Given the description of an element on the screen output the (x, y) to click on. 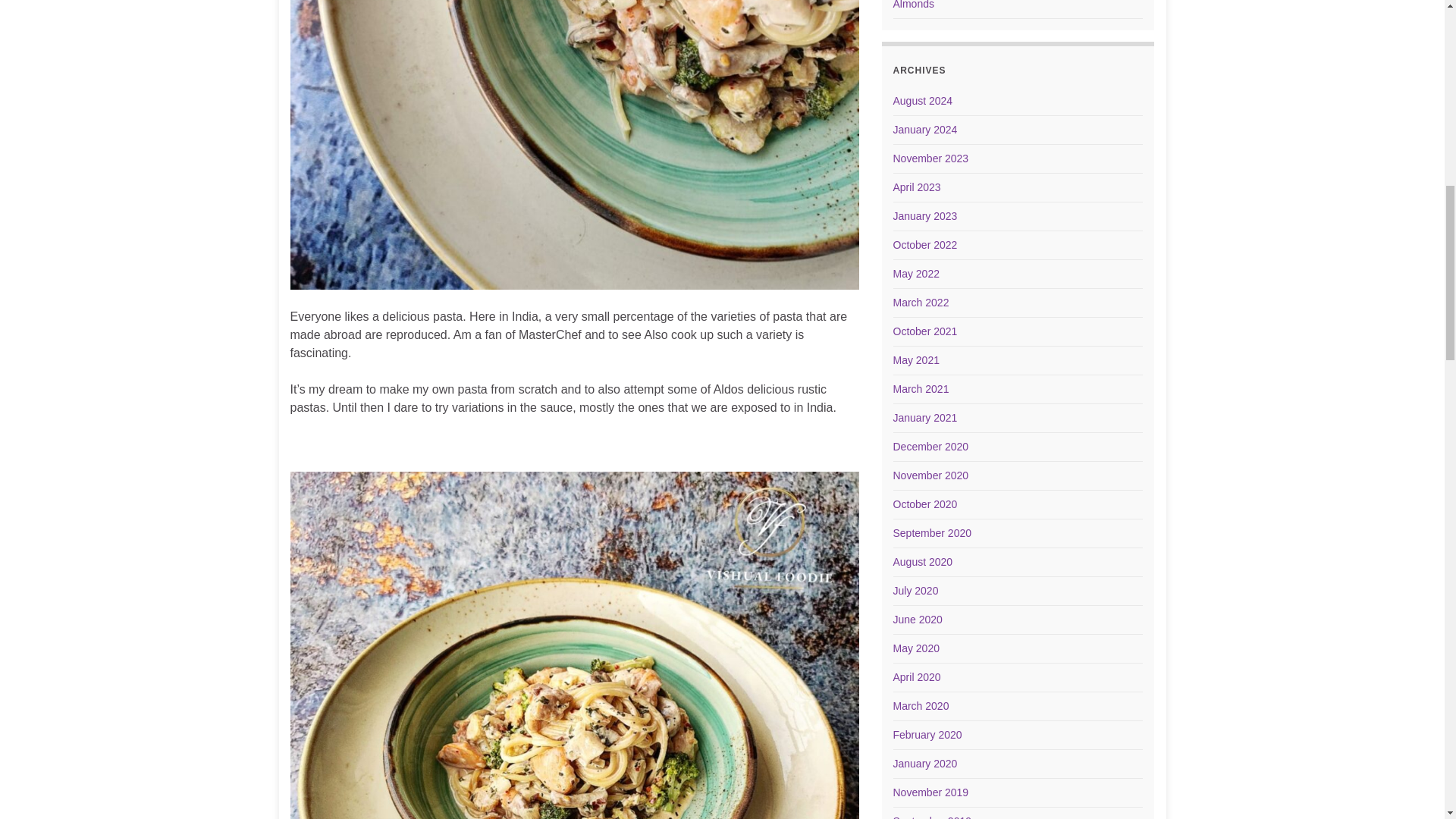
October 2021 (925, 331)
August 2024 (923, 101)
January 2024 (925, 129)
January 2023 (925, 215)
March 2022 (921, 302)
May 2021 (916, 359)
October 2022 (925, 244)
May 2022 (916, 273)
April 2023 (916, 186)
November 2023 (931, 158)
